Given the description of an element on the screen output the (x, y) to click on. 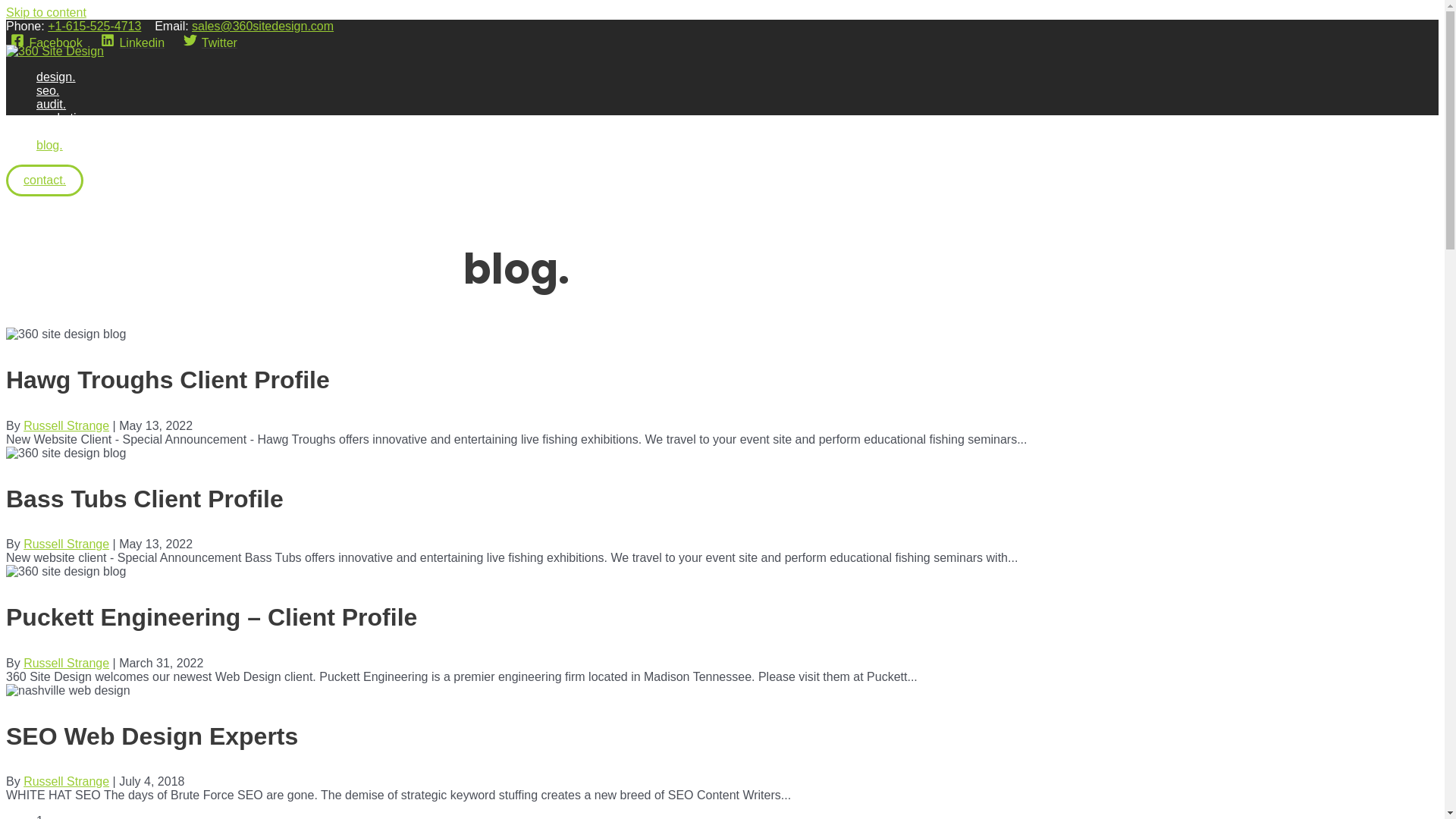
Website-Design-Services-Nashville Element type: hover (68, 690)
Skip to content Element type: text (46, 12)
Russell Strange Element type: text (66, 543)
360 Blog Featured Image Element type: hover (65, 571)
digital. Element type: text (66, 131)
Russell Strange Element type: text (66, 425)
contact. Element type: text (44, 180)
blog. Element type: text (66, 145)
marketing. Element type: text (66, 118)
seo. Element type: text (66, 90)
360 Blog Featured Image Element type: hover (65, 453)
Facebook Element type: text (46, 42)
Russell Strange Element type: text (66, 781)
Twitter Element type: text (209, 42)
+1-615-525-4713 Element type: text (94, 25)
360 Blog Featured Image Element type: hover (65, 334)
design. Element type: text (66, 77)
sales@360sitedesign.com Element type: text (262, 25)
audit. Element type: text (66, 104)
Russell Strange Element type: text (66, 662)
Linkedin Element type: text (132, 42)
